Given the description of an element on the screen output the (x, y) to click on. 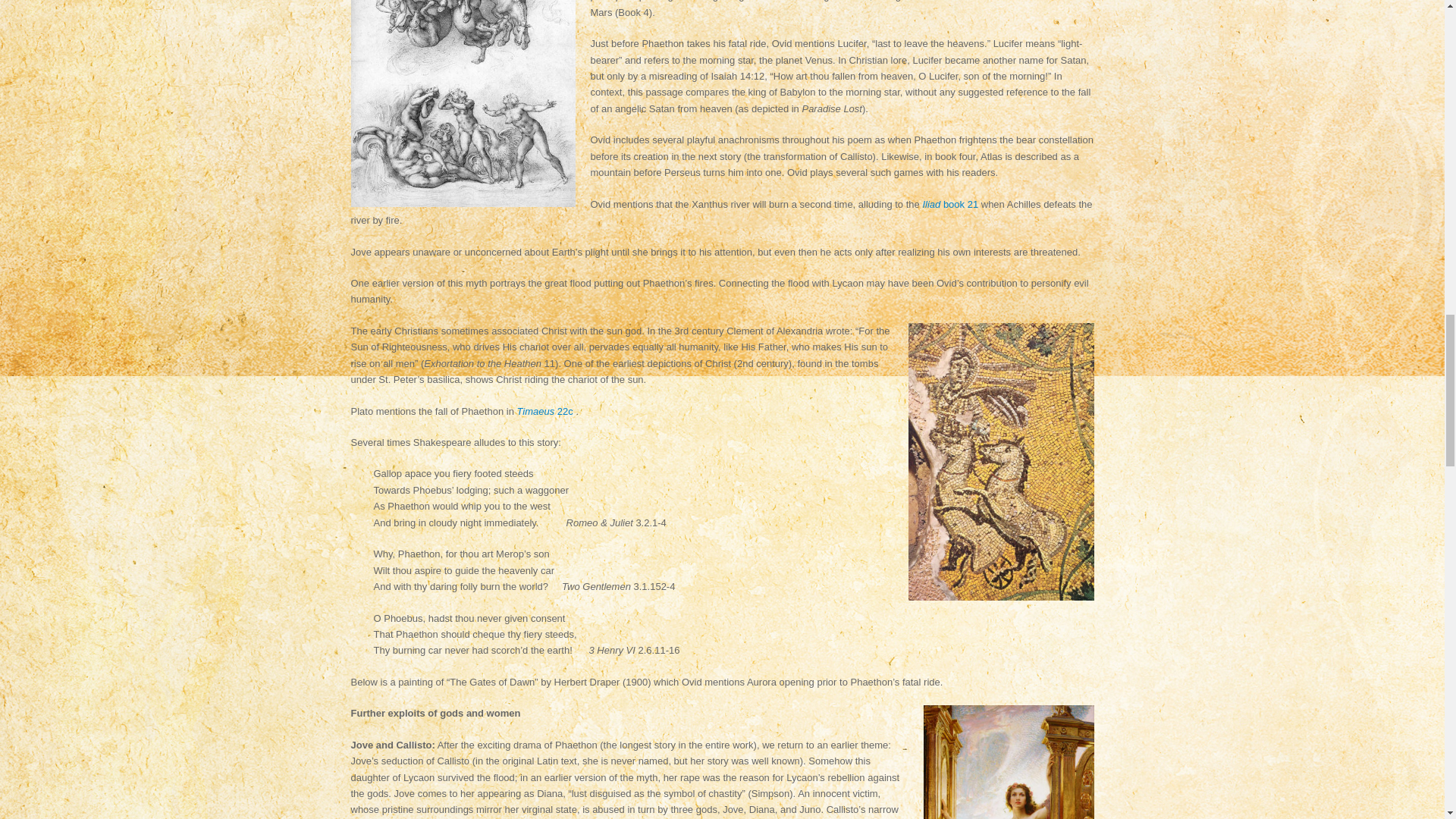
Iliad book 21 (949, 204)
Timaeus 22c (544, 410)
